Given the description of an element on the screen output the (x, y) to click on. 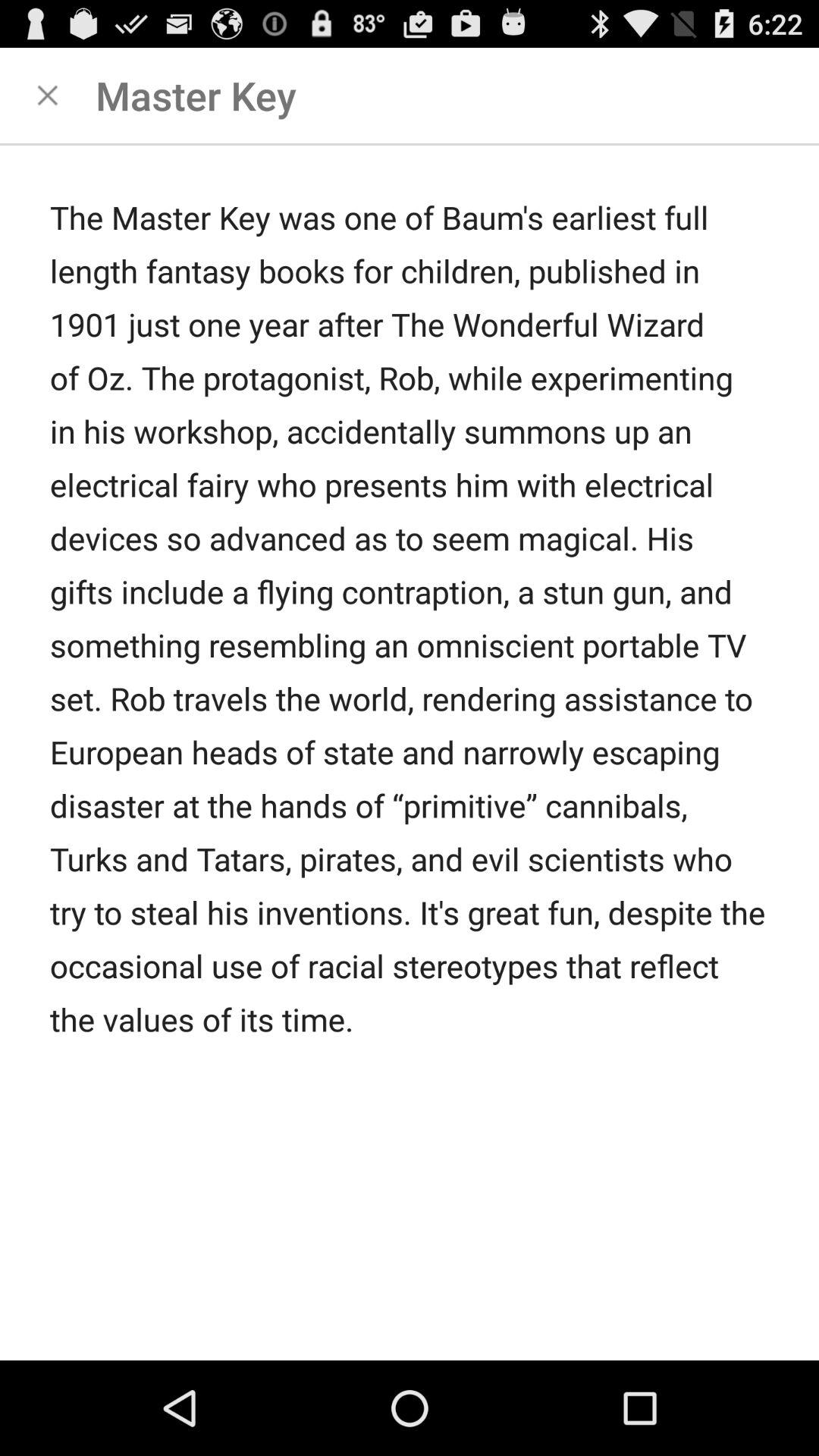
turn on icon at the top left corner (47, 95)
